Given the description of an element on the screen output the (x, y) to click on. 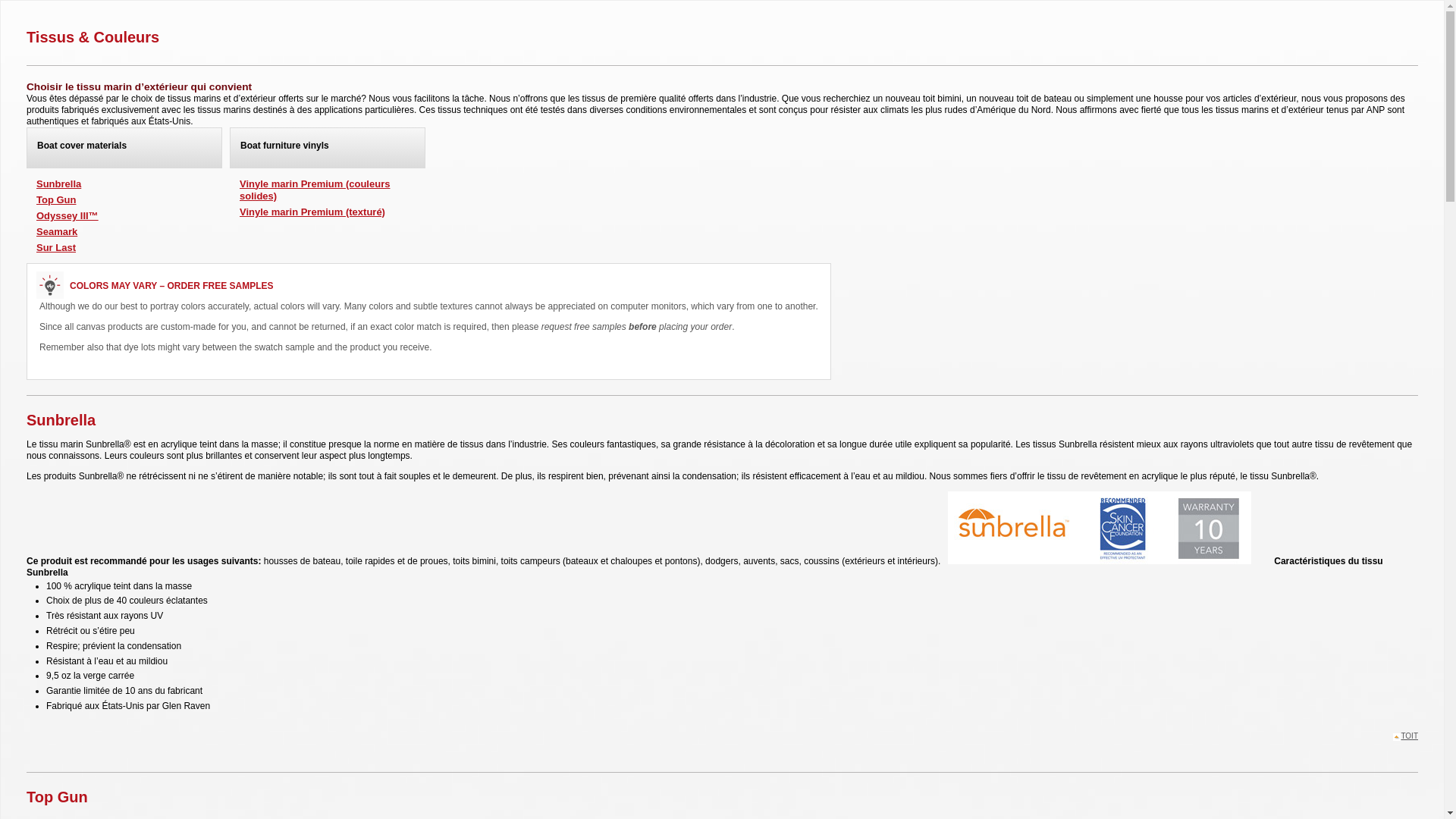
Warranty 10 years Element type: hover (1208, 527)
Top Gun Element type: text (55, 199)
Sunbrella Element type: text (58, 182)
Seamark Element type: text (56, 231)
Sunbrella Element type: hover (1014, 527)
Recommended Skin Cancer Foundation Element type: hover (1123, 527)
TOIT Element type: text (1405, 736)
Sur Last Element type: text (55, 247)
Vinyle marin Premium (couleurs solides) Element type: text (314, 188)
